Given the description of an element on the screen output the (x, y) to click on. 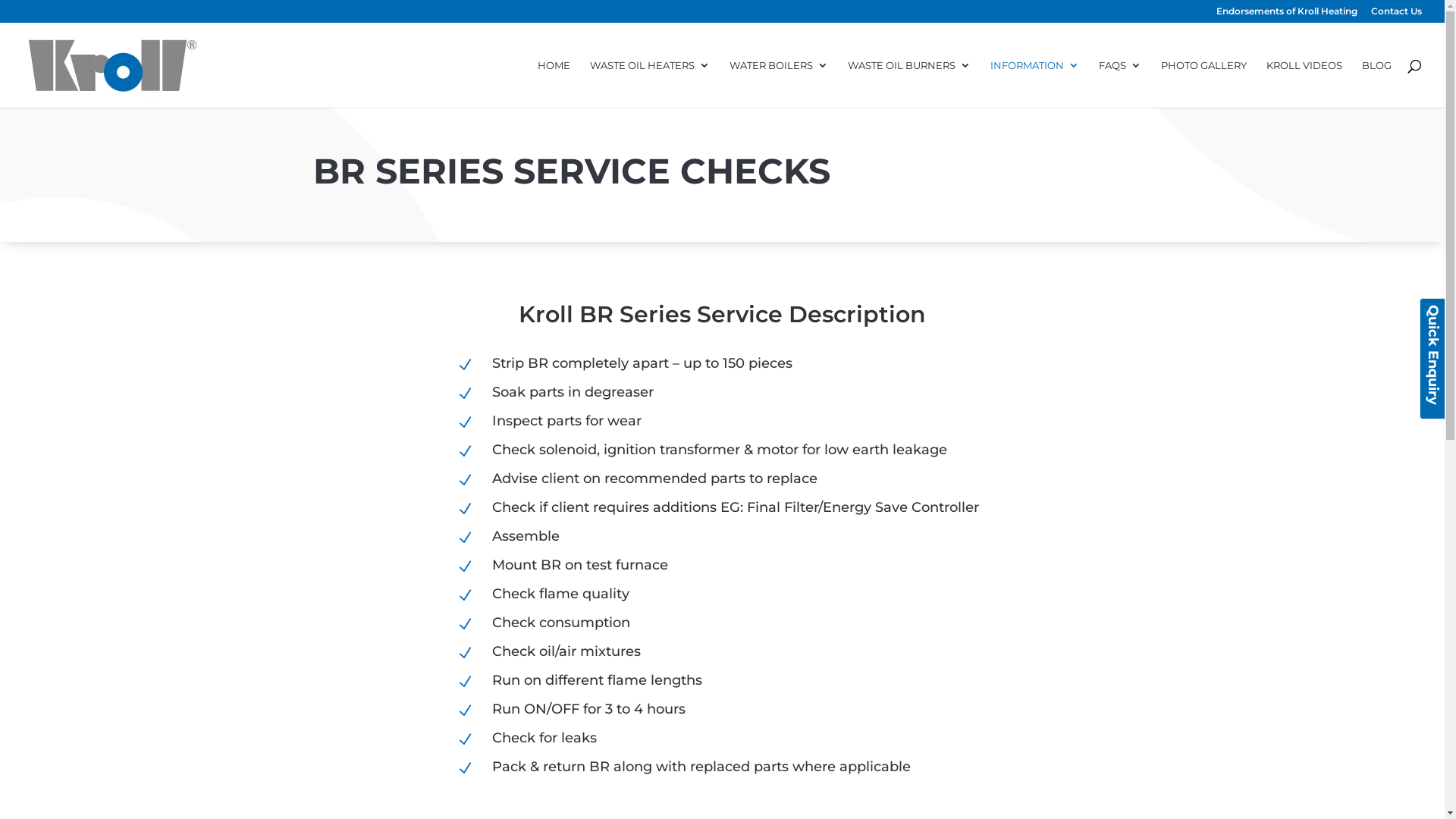
Kroll Heaters Element type: hover (112, 65)
HOME Element type: text (553, 83)
WASTE OIL HEATERS Element type: text (649, 83)
Endorsements of Kroll Heating Element type: text (1286, 14)
WASTE OIL BURNERS Element type: text (908, 83)
BLOG Element type: text (1376, 83)
FAQS Element type: text (1119, 83)
PHOTO GALLERY Element type: text (1203, 83)
INFORMATION Element type: text (1034, 83)
WATER BOILERS Element type: text (778, 83)
KROLL VIDEOS Element type: text (1304, 83)
Contact Us Element type: text (1396, 14)
